Given the description of an element on the screen output the (x, y) to click on. 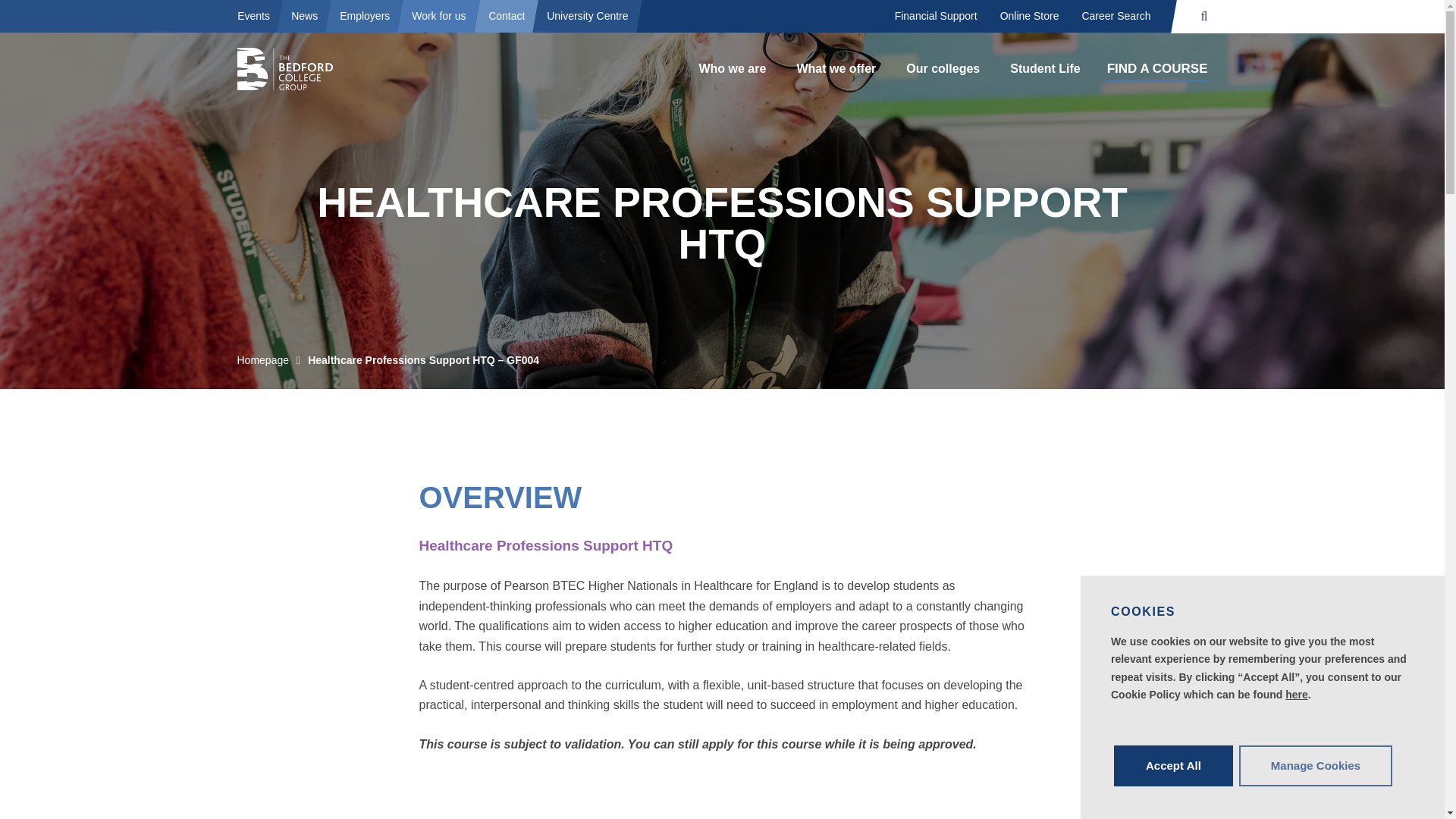
Work for us (439, 15)
Contact (506, 15)
Career Search (1115, 16)
Who we are (731, 69)
Online Store (1029, 16)
Skip to main content (78, 21)
Employers (365, 15)
What we offer (835, 69)
University Centre (587, 15)
Our colleges (942, 69)
Financial Support (935, 16)
News (304, 15)
Events (253, 15)
